Given the description of an element on the screen output the (x, y) to click on. 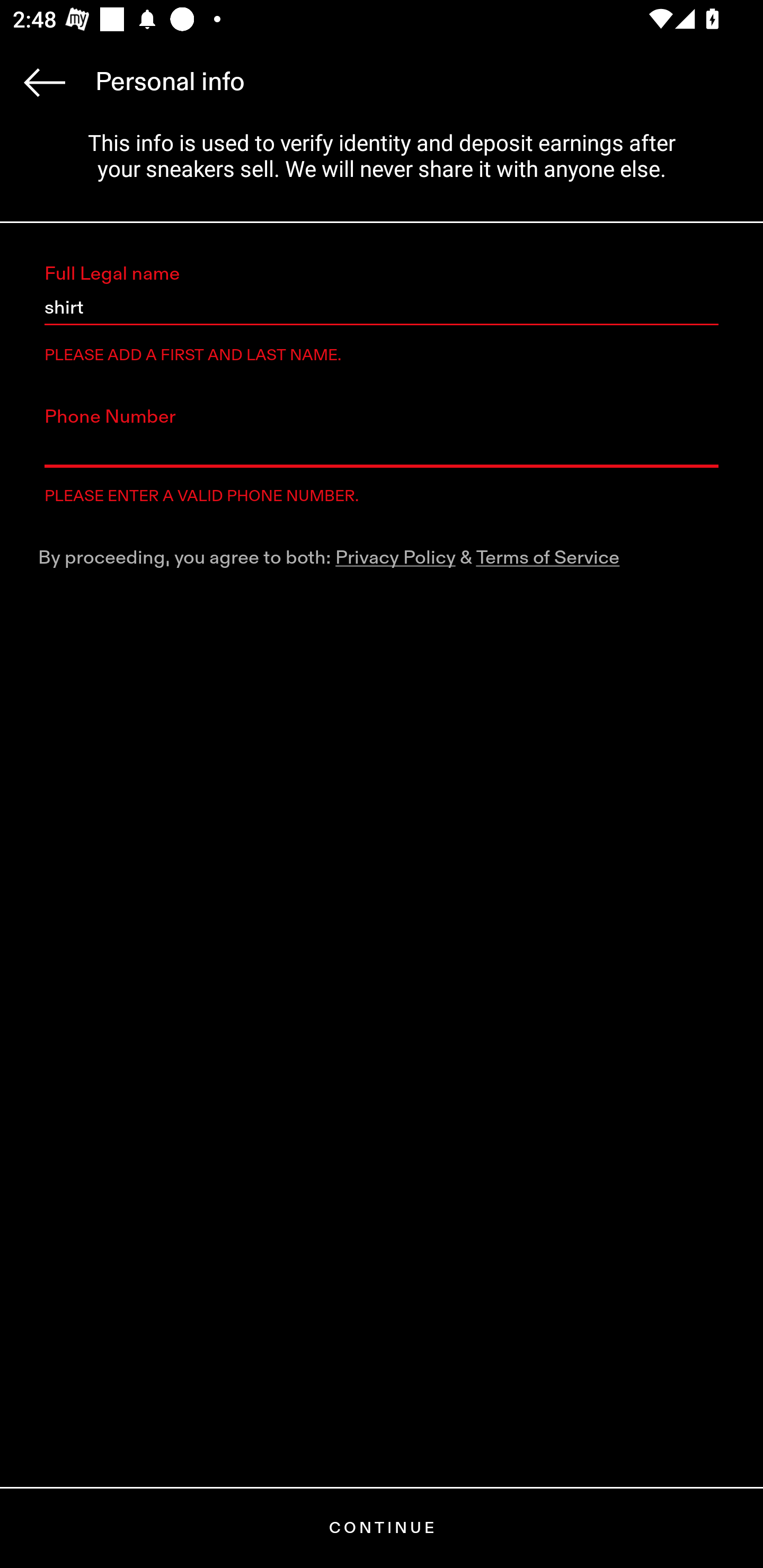
Navigate up (44, 82)
shirt (381, 308)
Phone Number (381, 449)
CONTINUE (381, 1528)
